Given the description of an element on the screen output the (x, y) to click on. 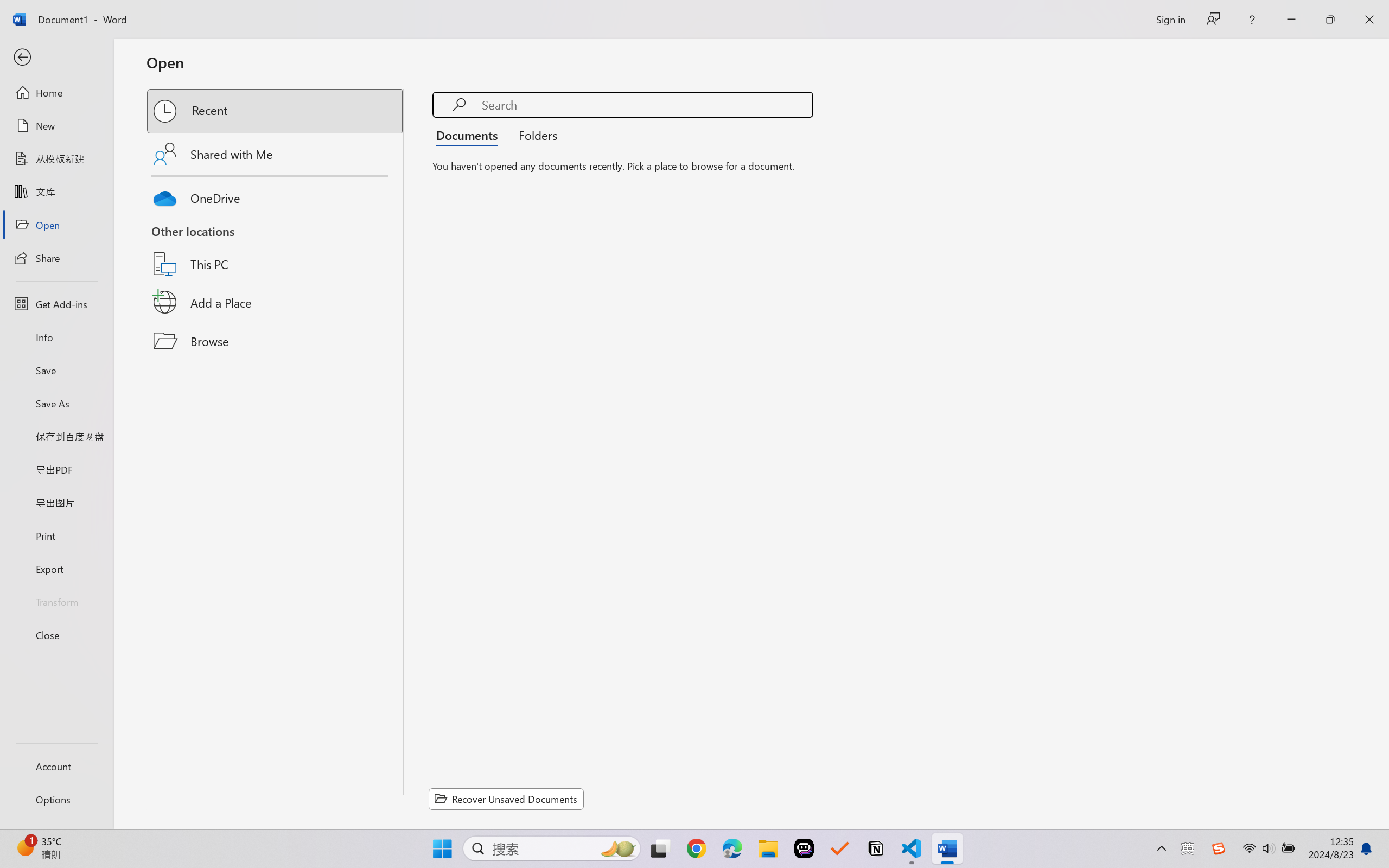
Folders (534, 134)
Transform (56, 601)
